Given the description of an element on the screen output the (x, y) to click on. 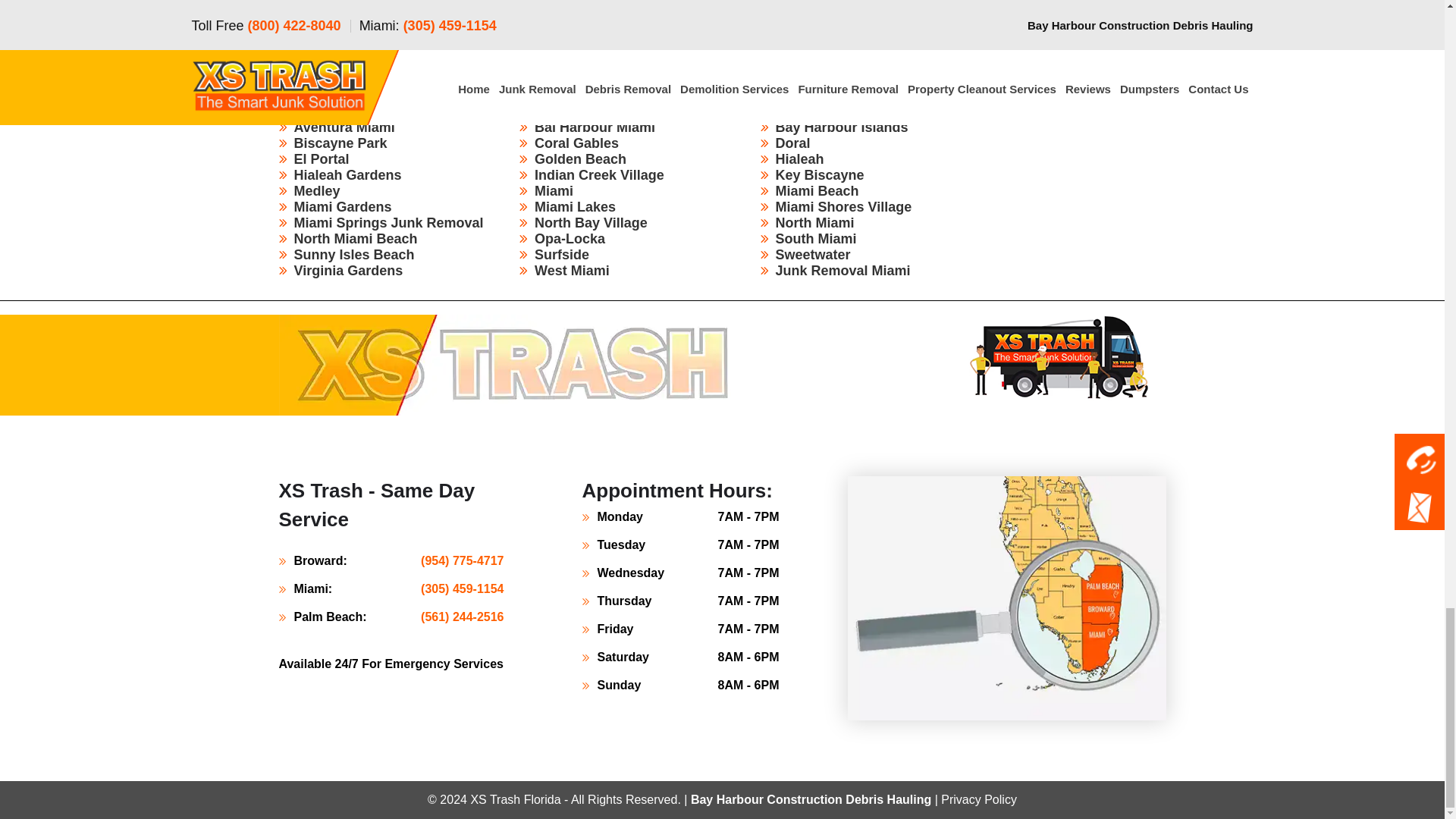
Hialeah Gardens (347, 174)
Indian Creek Village (598, 174)
Bal Harbour Miami (594, 127)
Key Biscayne (818, 174)
Biscayne Park (340, 142)
Aventura Miami (344, 127)
Miami (553, 191)
Golden Beach (580, 159)
Miami Beach (816, 191)
Doral (791, 142)
